Given the description of an element on the screen output the (x, y) to click on. 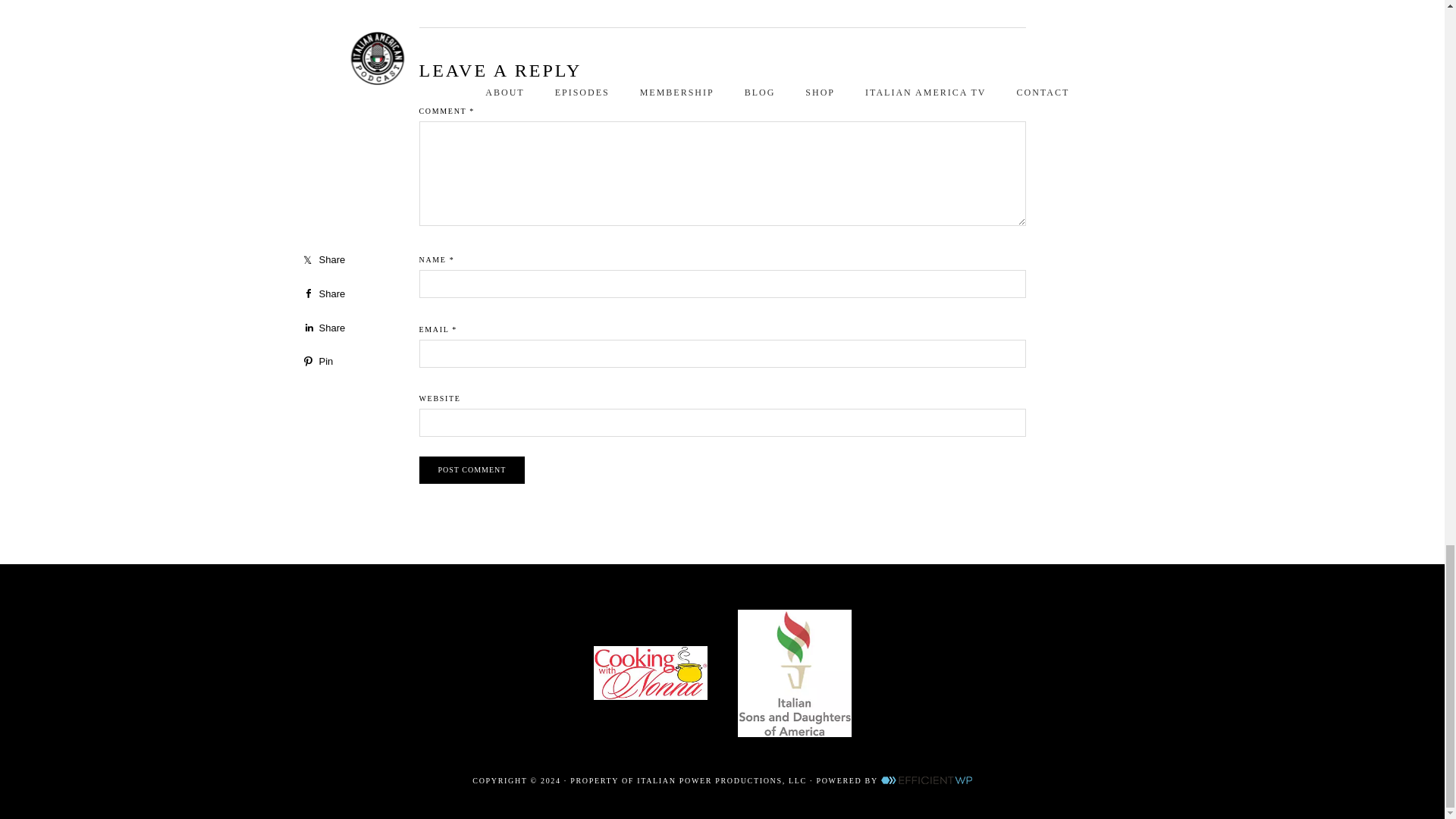
Post Comment (471, 470)
Post Comment (471, 470)
